Given the description of an element on the screen output the (x, y) to click on. 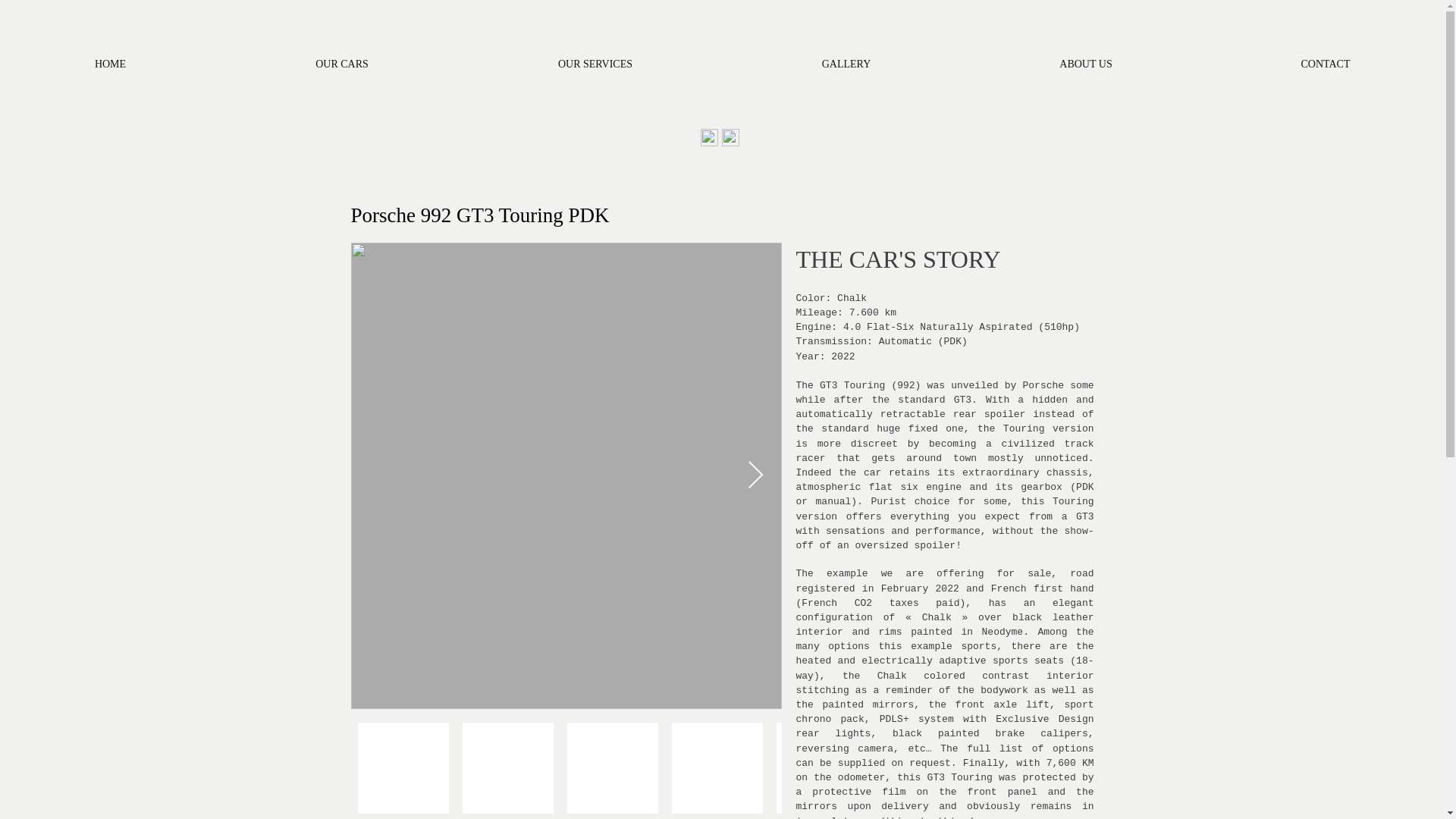
OUR CARS (342, 61)
GALLERY (845, 61)
OUR SERVICES (594, 61)
ABOUT US (1086, 61)
HOME (110, 61)
